Given the description of an element on the screen output the (x, y) to click on. 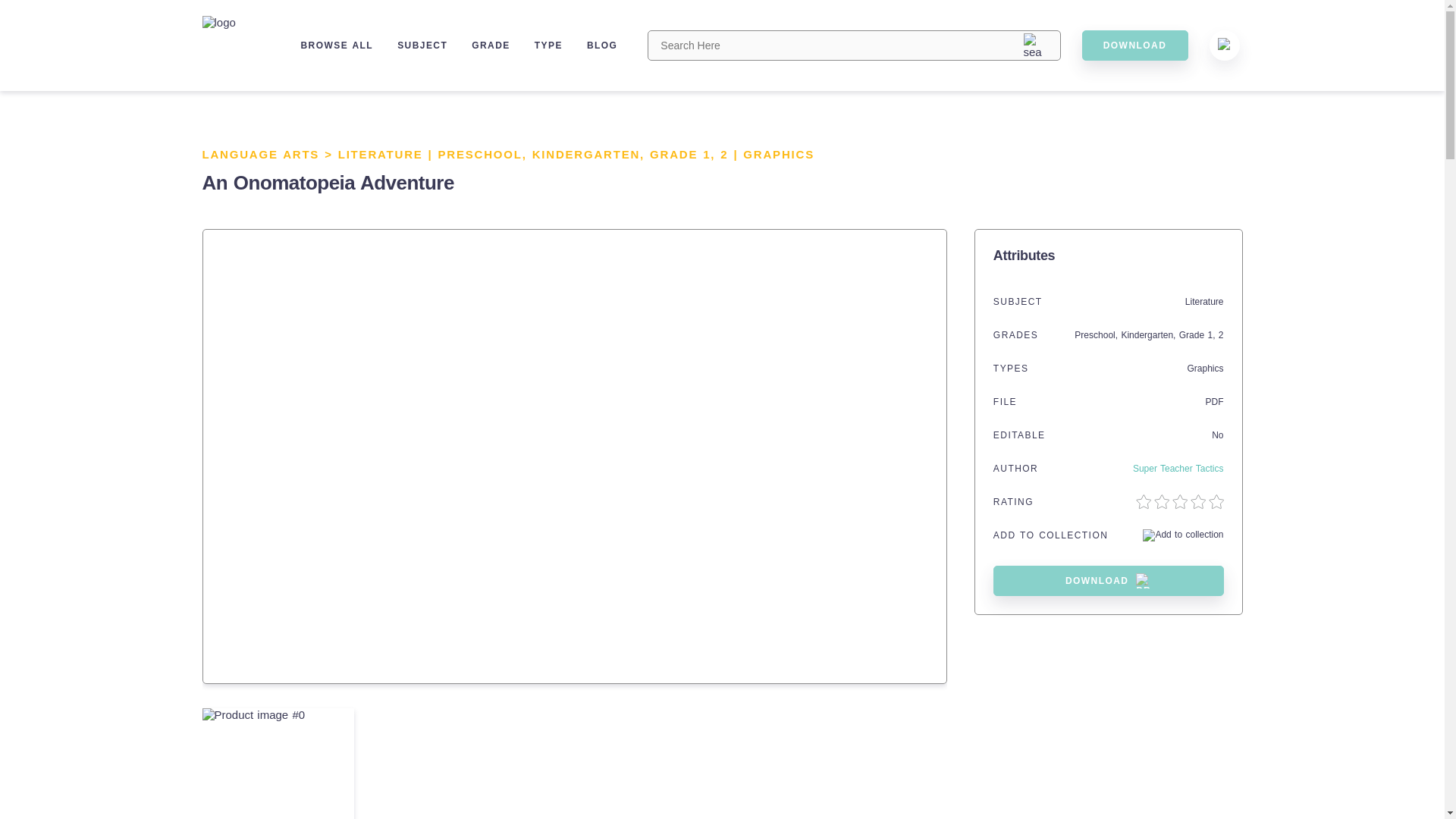
Preschool, (1097, 335)
KINDERGARTEN (586, 154)
DOWNLOAD (1108, 580)
Super Teacher Tactics (1178, 468)
DOWNLOAD (1134, 45)
Literature (1204, 301)
GRAPHICS (777, 154)
Graphics (1204, 368)
1, (711, 154)
BLOG (601, 45)
